Given the description of an element on the screen output the (x, y) to click on. 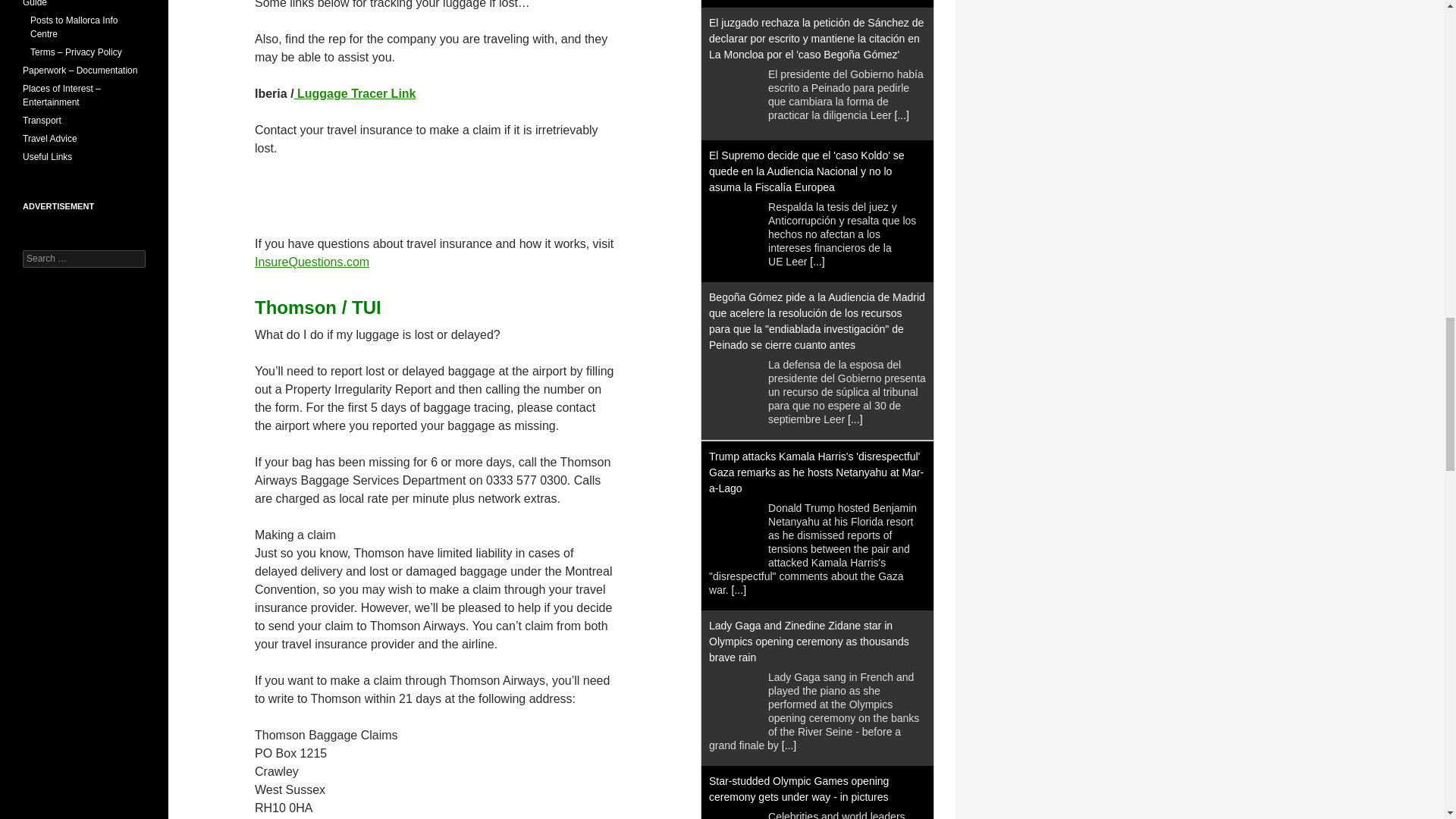
Read more (901, 114)
Read more (816, 261)
